Given the description of an element on the screen output the (x, y) to click on. 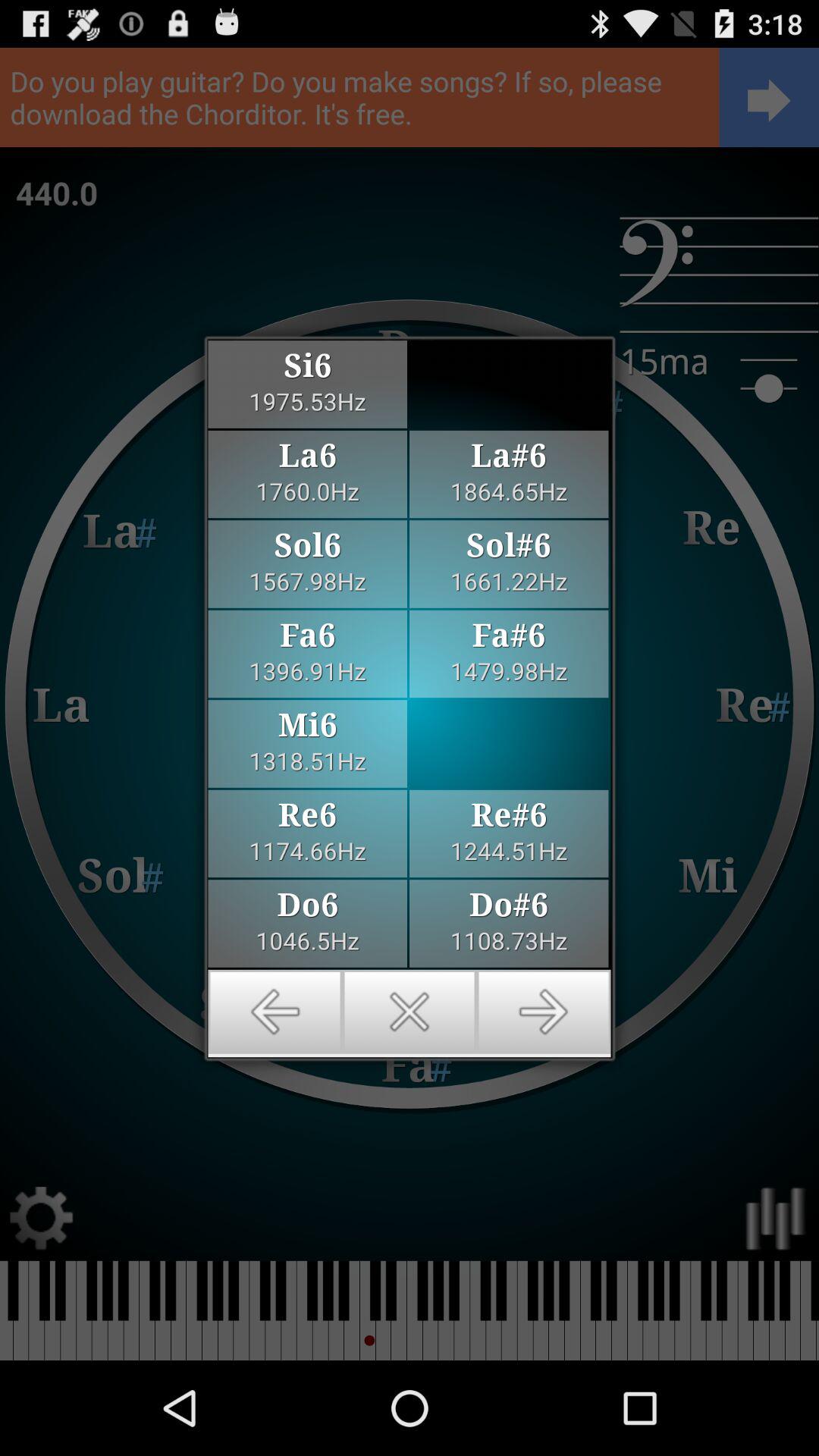
next (543, 1011)
